Given the description of an element on the screen output the (x, y) to click on. 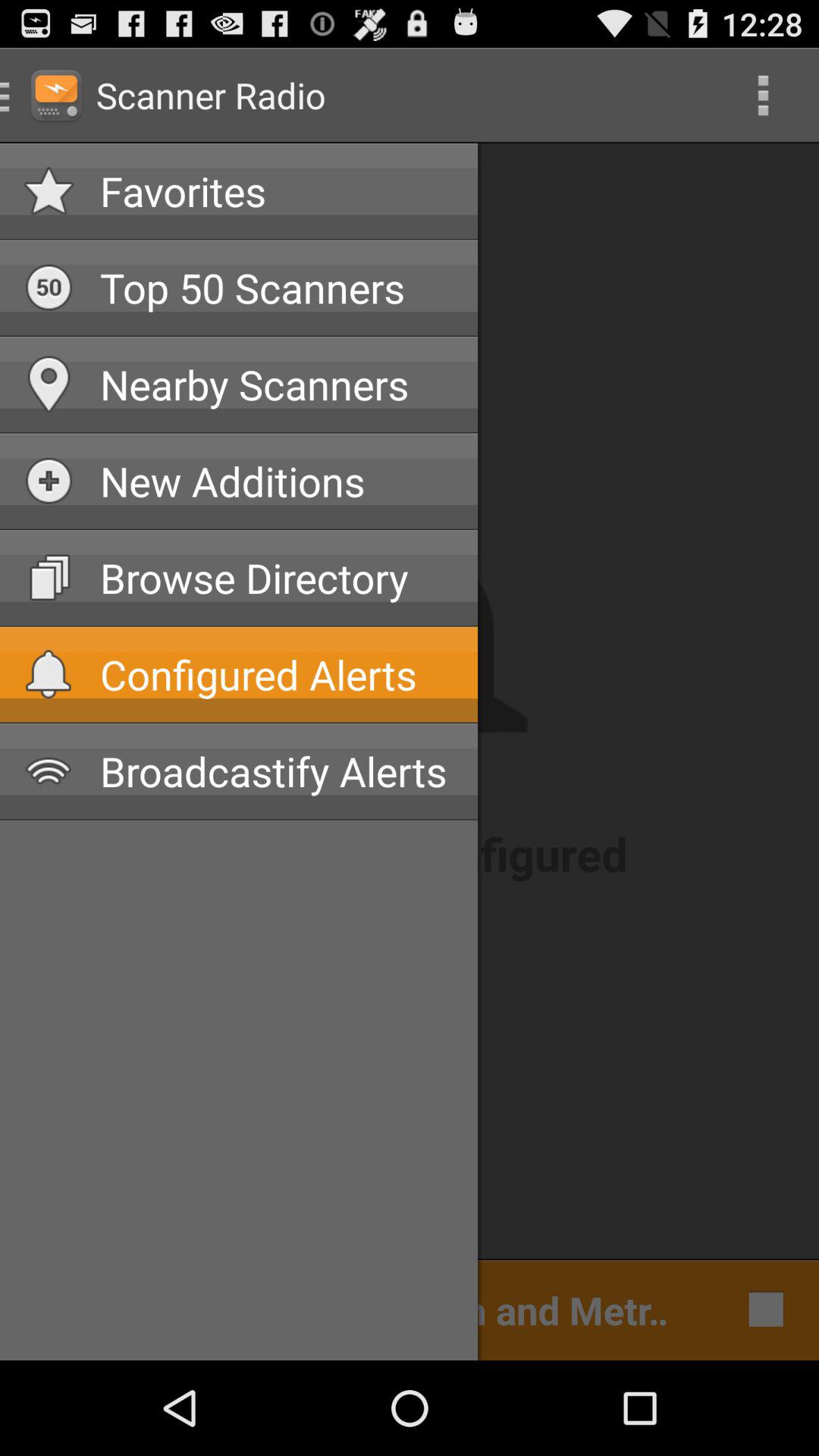
select the plus symbol (49, 480)
click the bell icon left to configured alerts (49, 673)
select the white square box present next to metr (762, 1309)
